Given the description of an element on the screen output the (x, y) to click on. 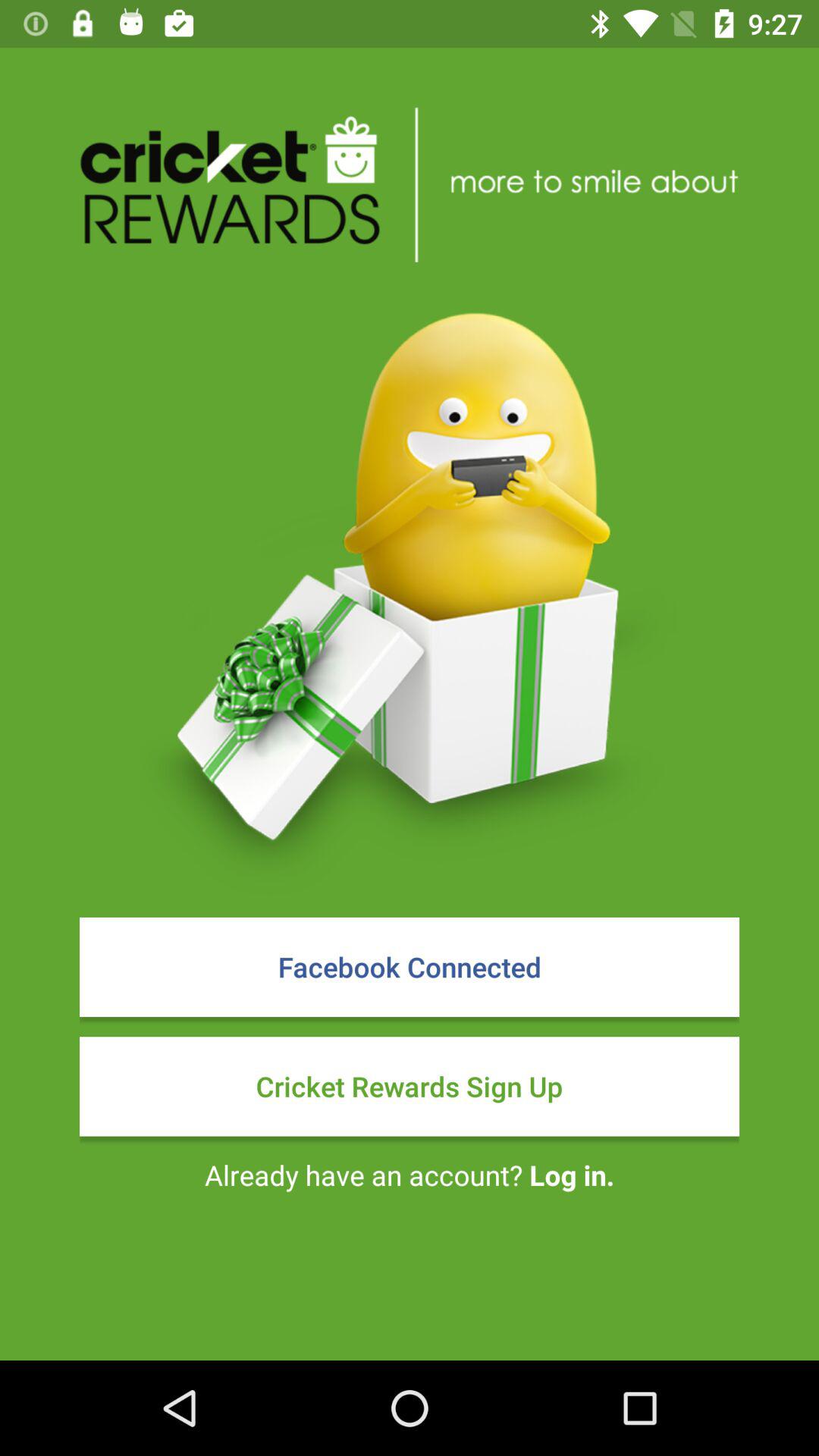
jump to the already have an item (409, 1174)
